Given the description of an element on the screen output the (x, y) to click on. 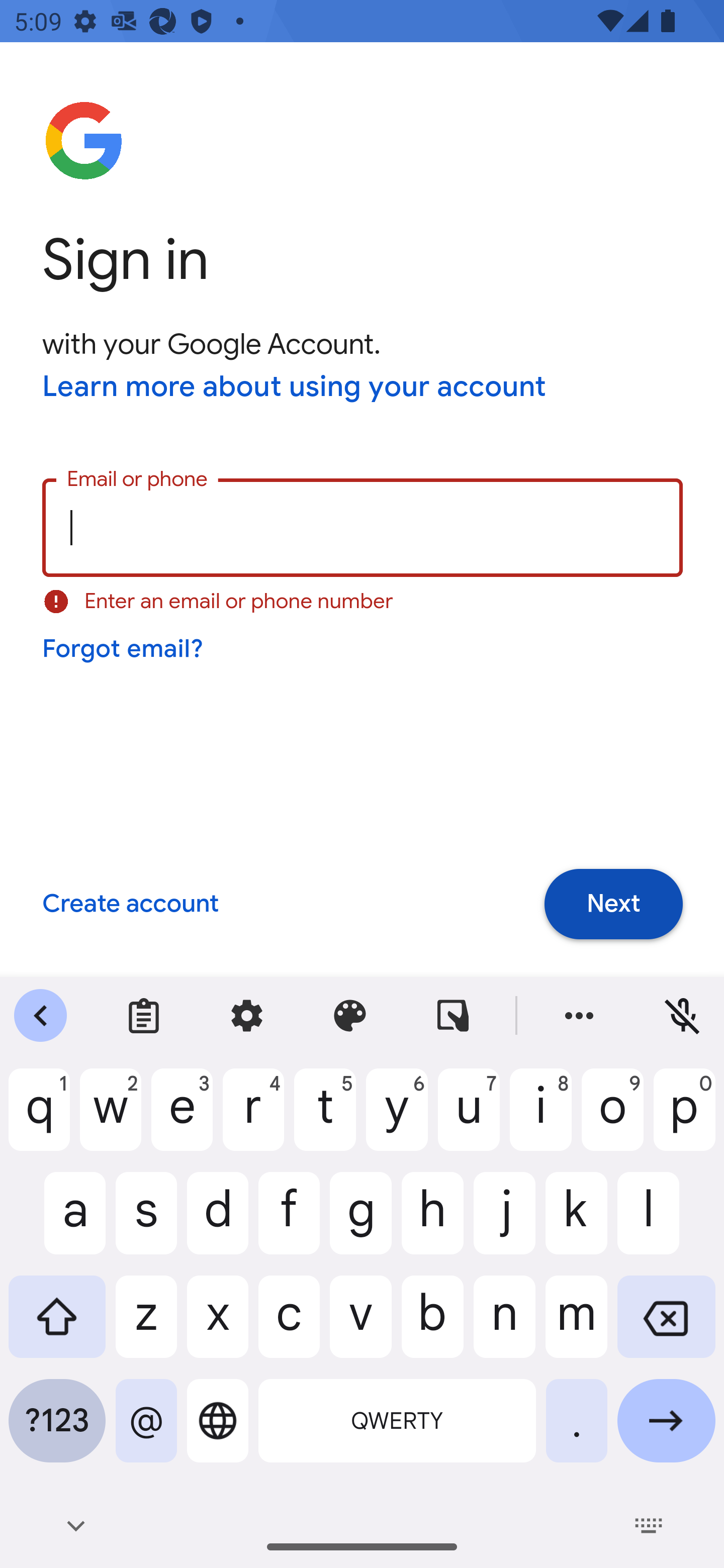
Learn more about using your account (294, 388)
Forgot email? (123, 648)
Create account (129, 904)
Next (613, 904)
